Given the description of an element on the screen output the (x, y) to click on. 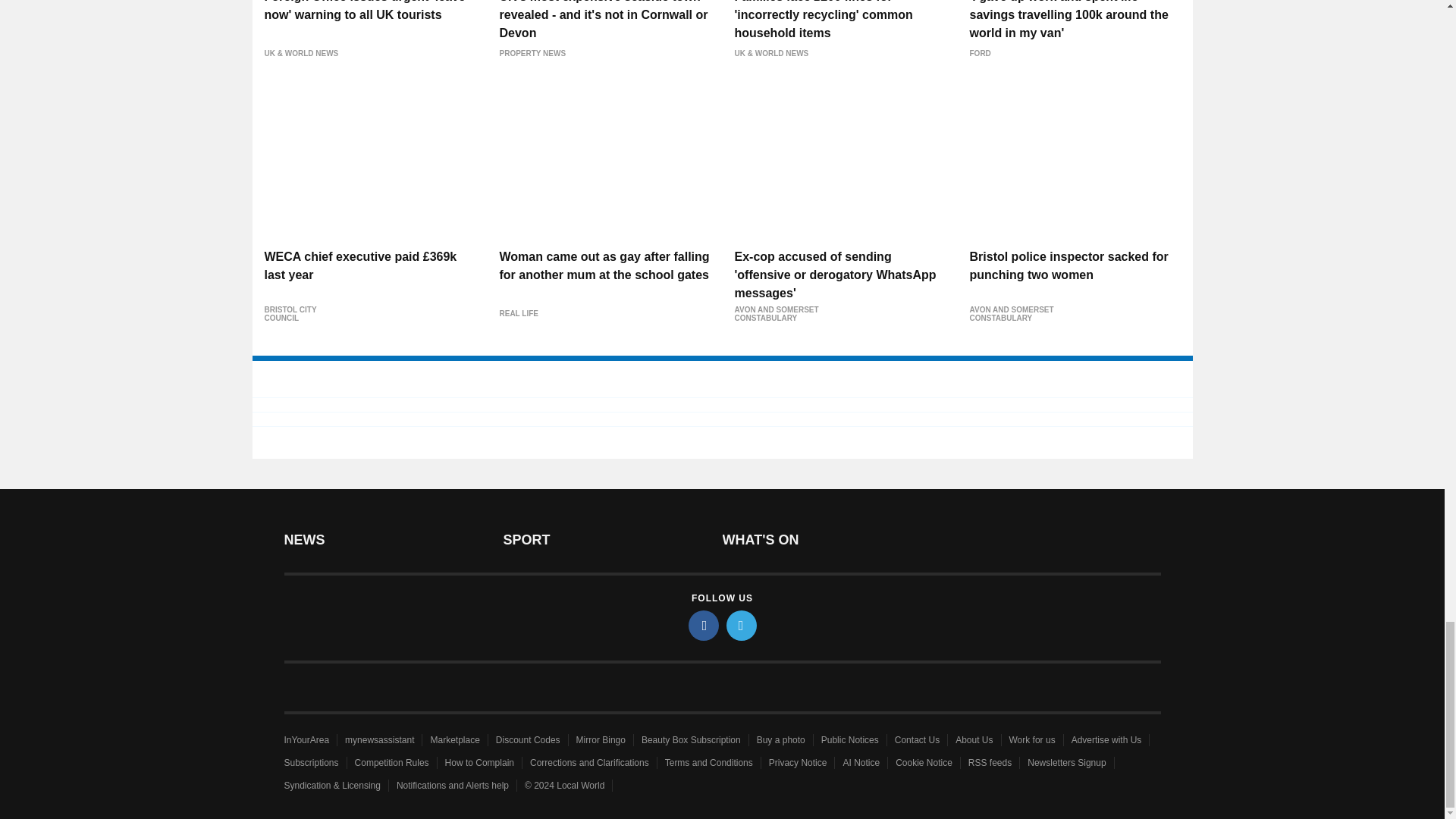
twitter (741, 625)
facebook (703, 625)
